Given the description of an element on the screen output the (x, y) to click on. 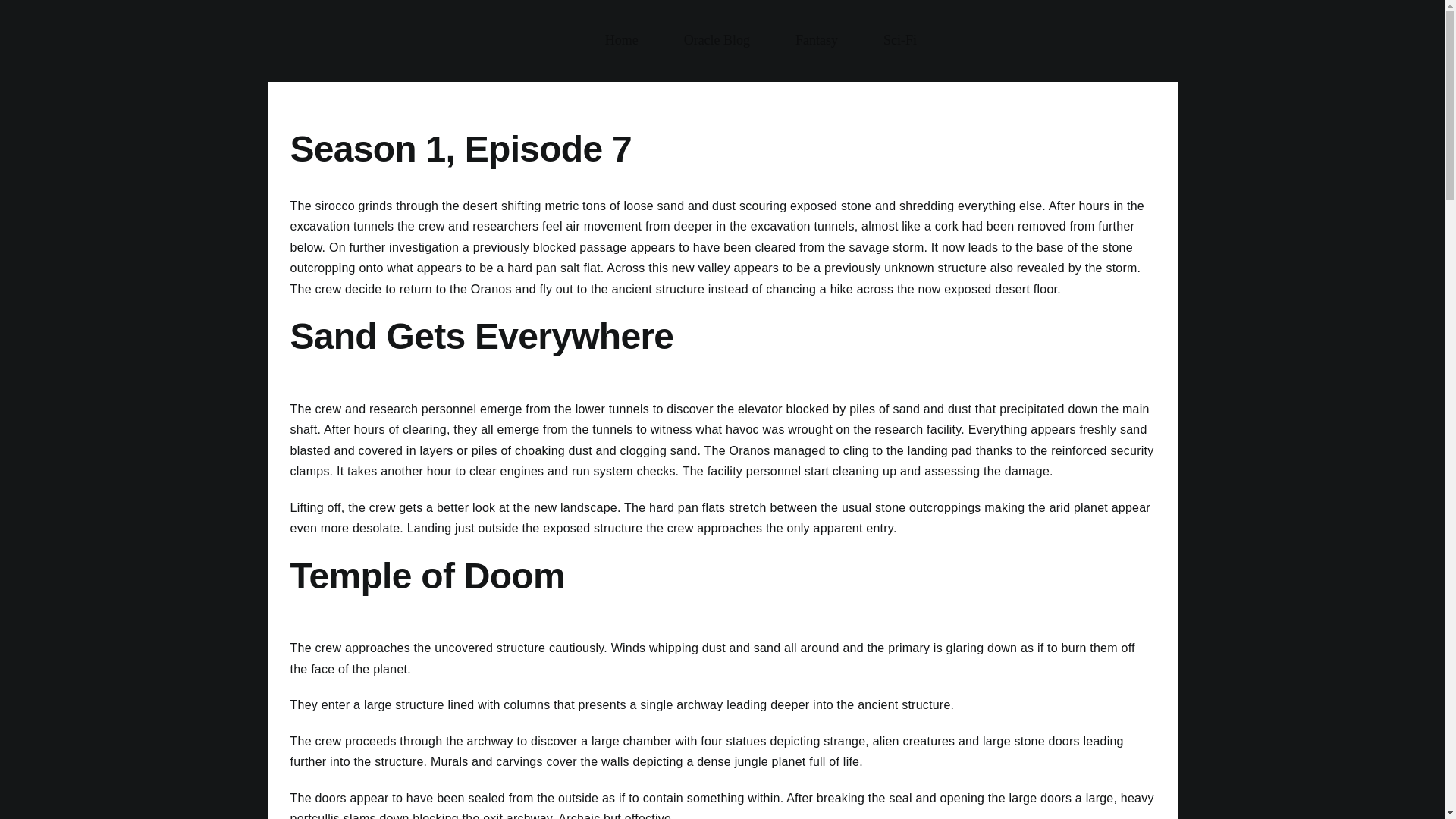
Home (621, 40)
Oracle Blog (716, 40)
Fantasy (816, 40)
Sci-Fi (721, 40)
